Given the description of an element on the screen output the (x, y) to click on. 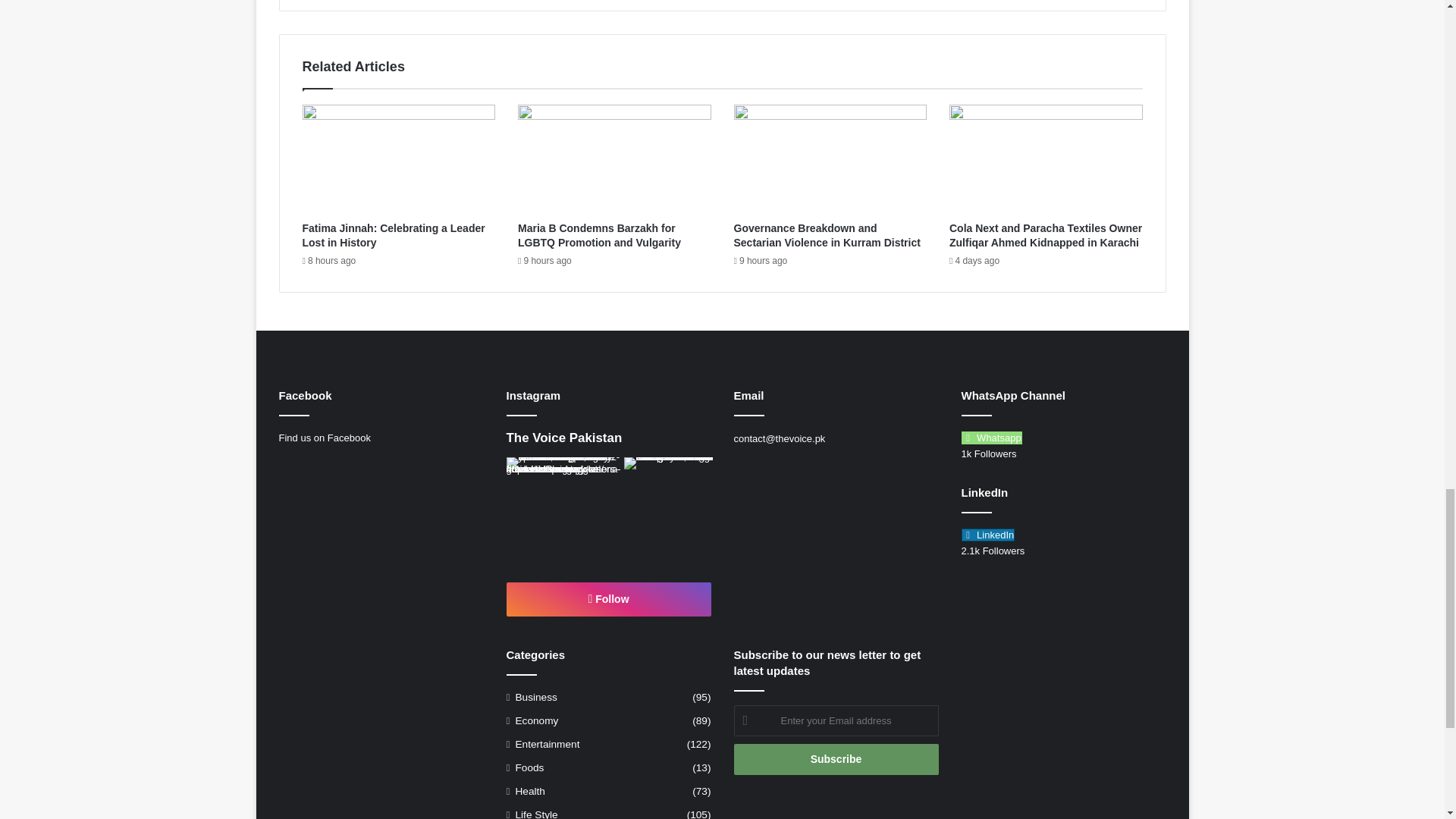
Subscribe (836, 758)
